Given the description of an element on the screen output the (x, y) to click on. 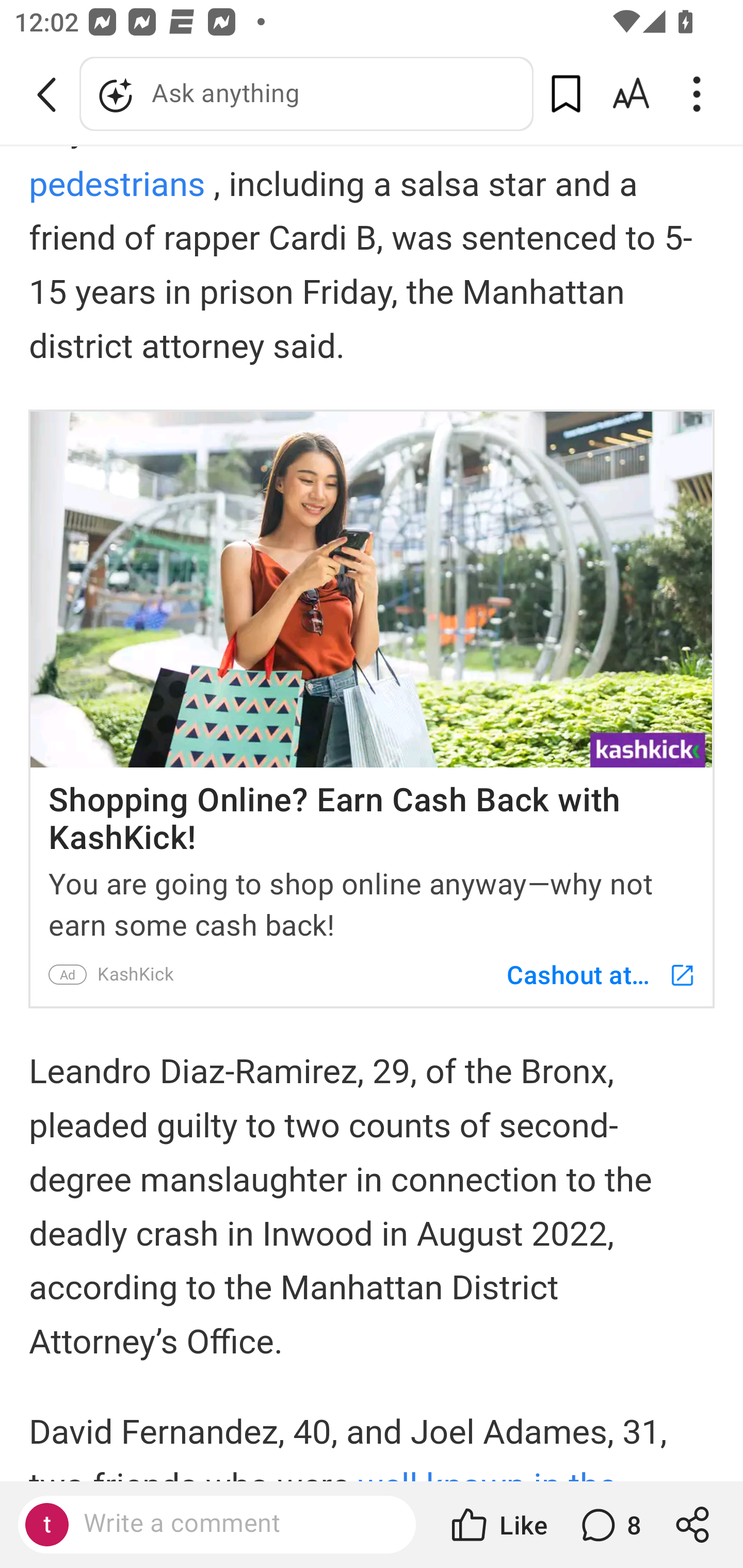
Ask anything (306, 93)
crash that killed two pedestrians  (358, 175)
Shopping Online? Earn Cash Back with KashKick! (371, 811)
Cashout at $10! (591, 974)
KashKick (135, 974)
Like (497, 1524)
8 (608, 1524)
Write a comment (234, 1523)
